Given the description of an element on the screen output the (x, y) to click on. 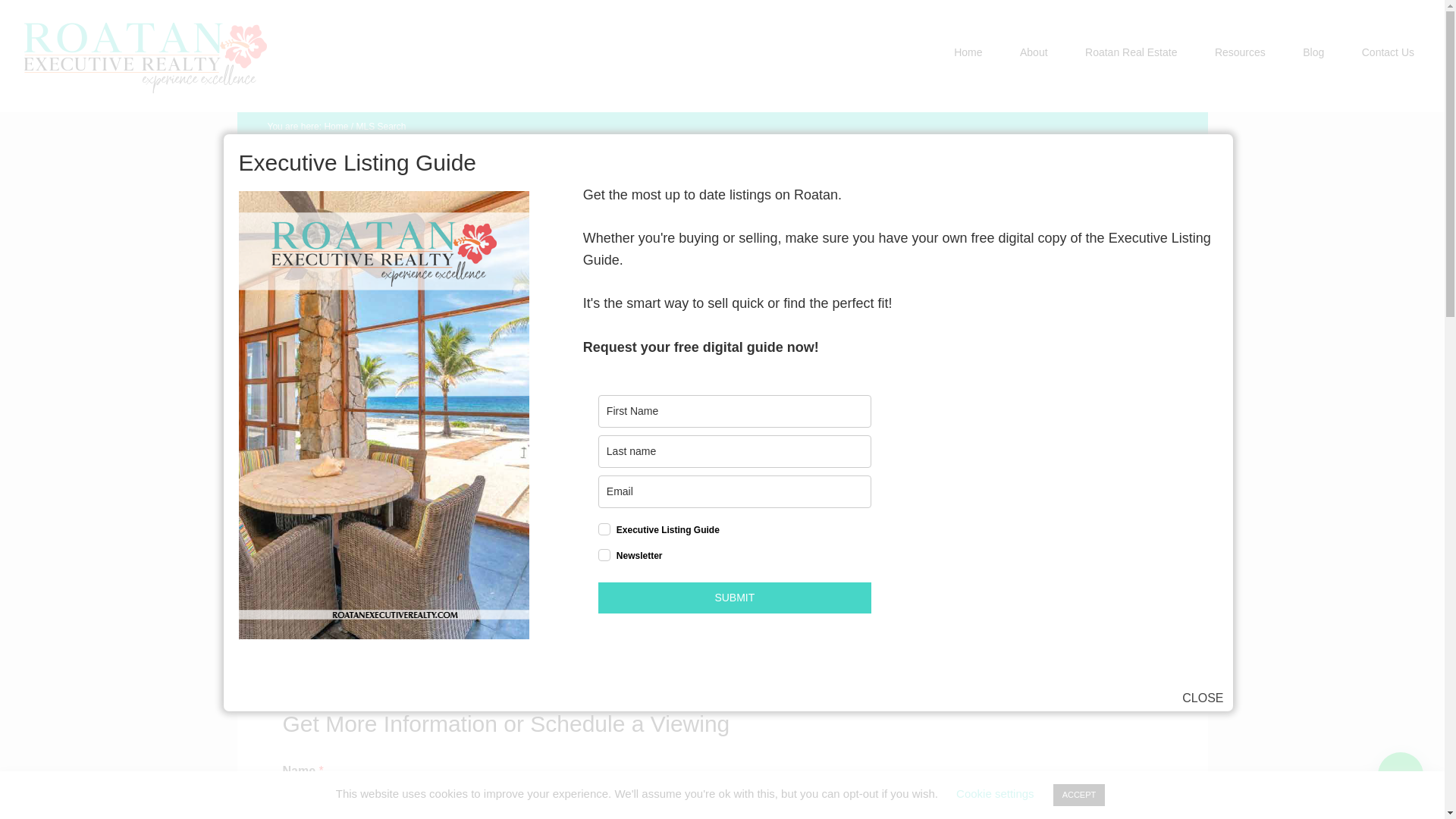
Resources (1239, 51)
Roatan Executive Realty (145, 59)
Contact Us (1387, 51)
Blog (1313, 51)
ACCEPT (1078, 794)
About (1033, 51)
Home (335, 126)
Roatan Real Estate (1130, 51)
Close (1202, 698)
Home (967, 51)
Cookie settings (994, 793)
